Given the description of an element on the screen output the (x, y) to click on. 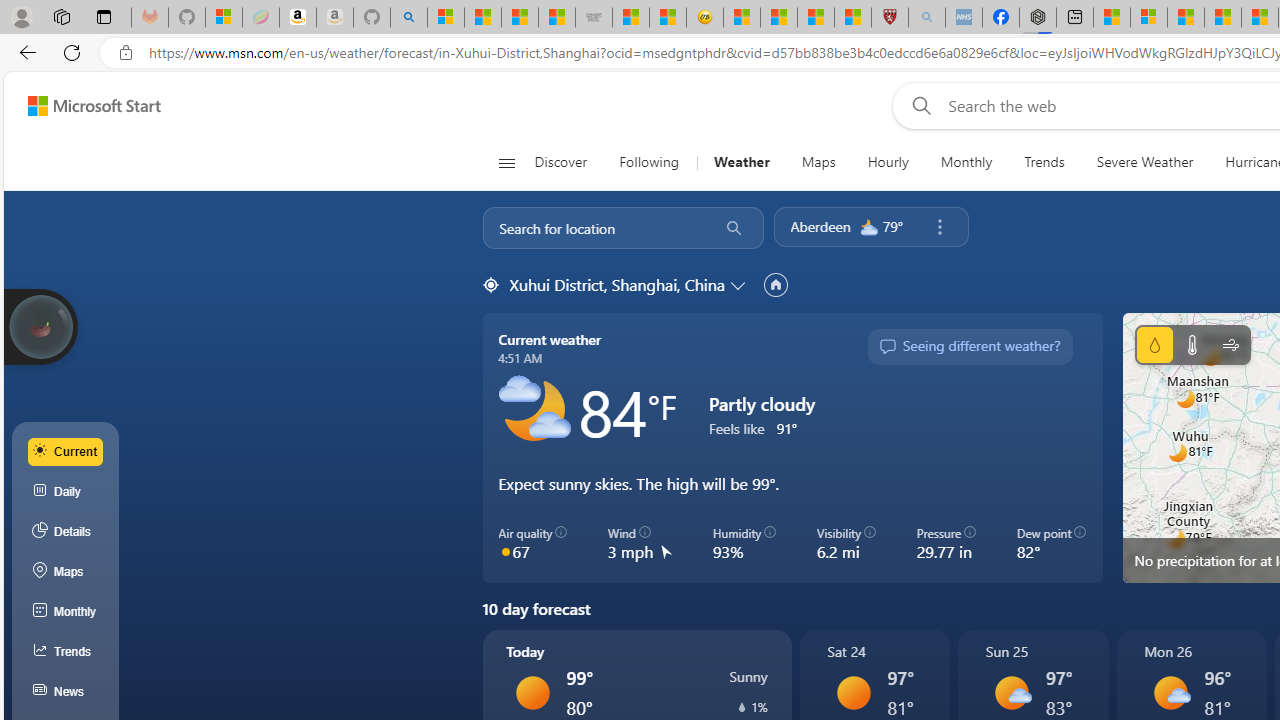
Robert H. Shmerling, MD - Harvard Health (889, 17)
Partly cloudy (533, 411)
Monthly (966, 162)
Precipitation (742, 707)
Join us in planting real trees to help our planet! (40, 327)
Temperature (1191, 344)
Combat Siege (593, 17)
Current (65, 451)
Weather (741, 162)
